Given the description of an element on the screen output the (x, y) to click on. 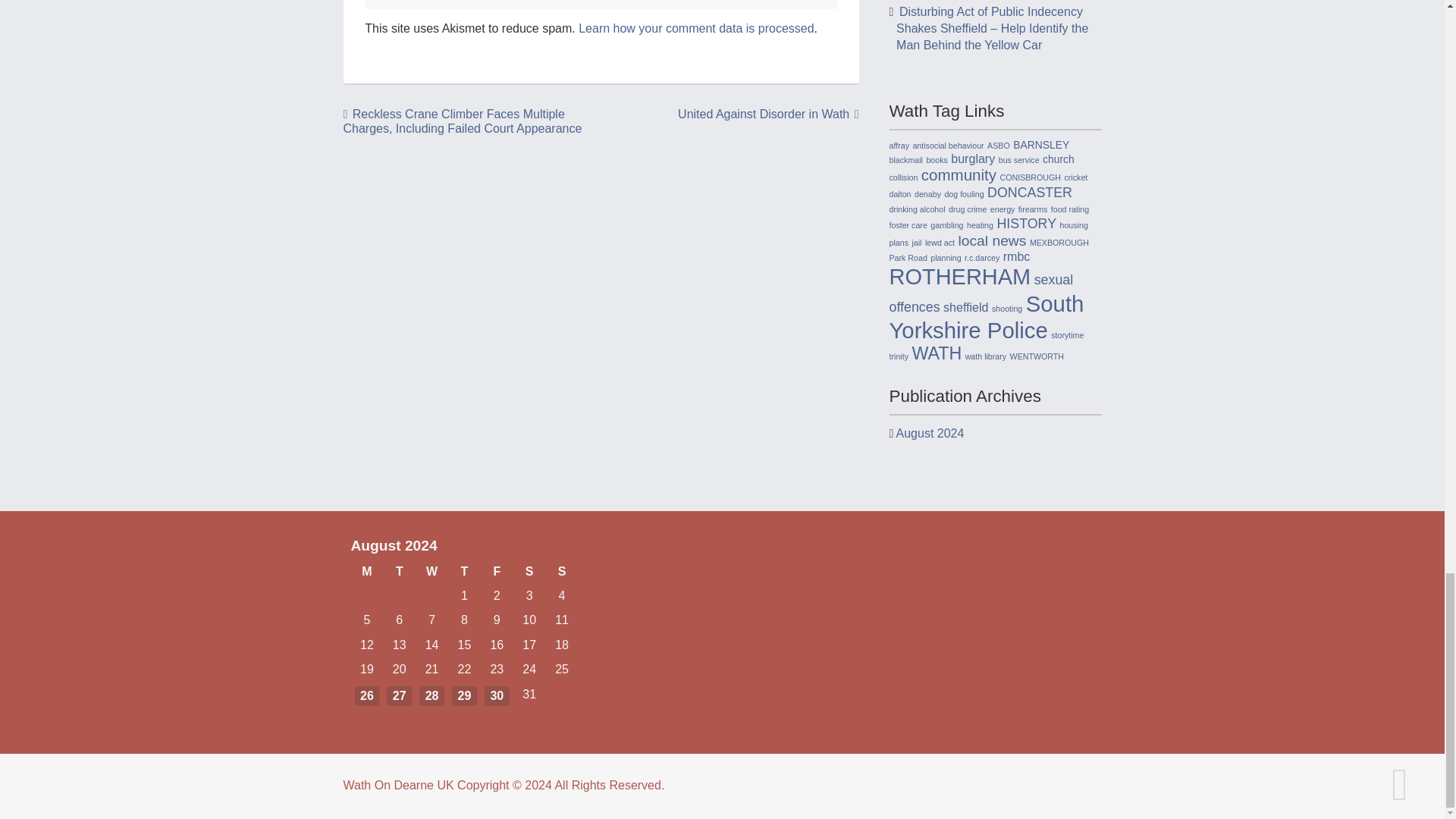
Monday (366, 571)
Thursday (464, 571)
Learn how your comment data is processed (695, 28)
Sunday (562, 571)
United Against Disorder in Wath (768, 113)
Friday (496, 571)
Wednesday (431, 571)
Tuesday (398, 571)
Saturday (529, 571)
